Given the description of an element on the screen output the (x, y) to click on. 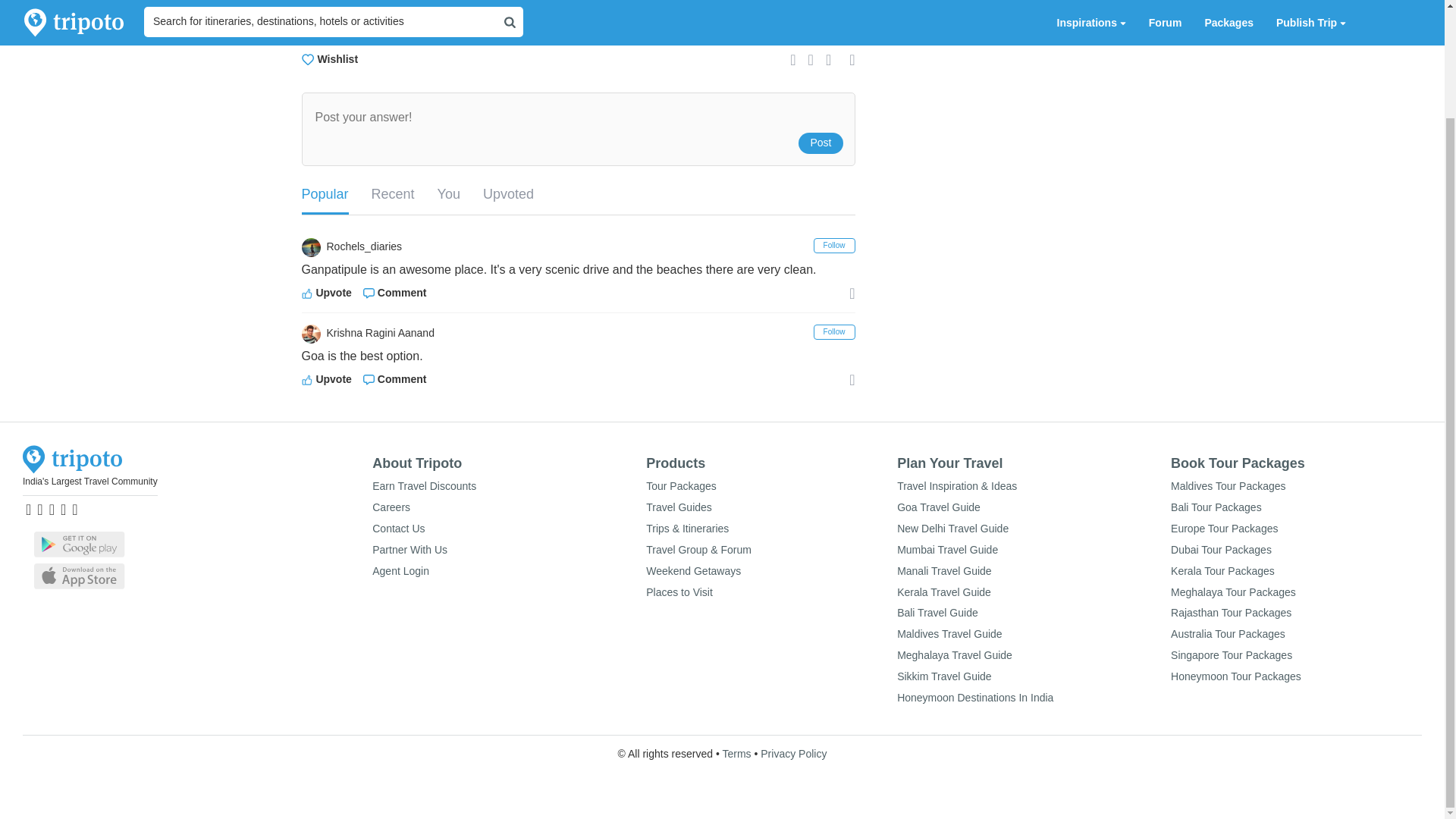
Follow (834, 331)
Follow (834, 245)
Popular (325, 196)
Recent (392, 194)
Upvoted (508, 194)
India's Largest Travel Community (90, 480)
Pranav Mirkad (439, 31)
Krishna Ragini Aanand (439, 333)
